Given the description of an element on the screen output the (x, y) to click on. 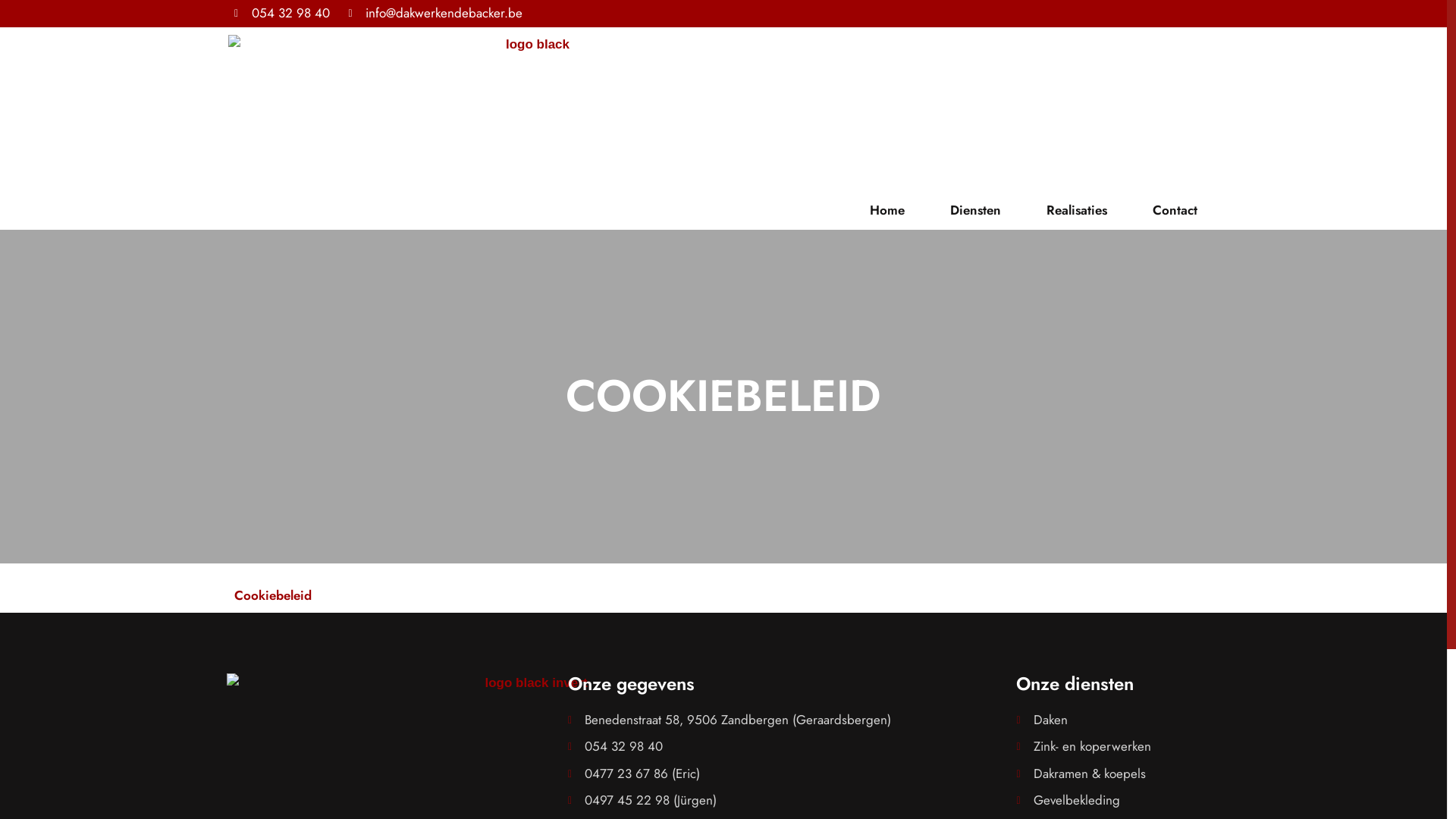
Gevelbekleding Element type: text (1108, 800)
0477 23 67 86 (Eric) Element type: text (784, 774)
Realisaties Element type: text (1076, 210)
Dakramen & koepels Element type: text (1108, 774)
Diensten Element type: text (975, 210)
054 32 98 40 Element type: text (281, 13)
Zink- en koperwerken Element type: text (1108, 746)
Daken Element type: text (1108, 720)
Cookiebeleid Element type: text (272, 594)
054 32 98 40 Element type: text (784, 746)
Home Element type: text (887, 210)
Contact Element type: text (1174, 210)
info@dakwerkendebacker.be Element type: text (435, 13)
Benedenstraat 58, 9506 Zandbergen (Geraardsbergen) Element type: text (784, 720)
